Given the description of an element on the screen output the (x, y) to click on. 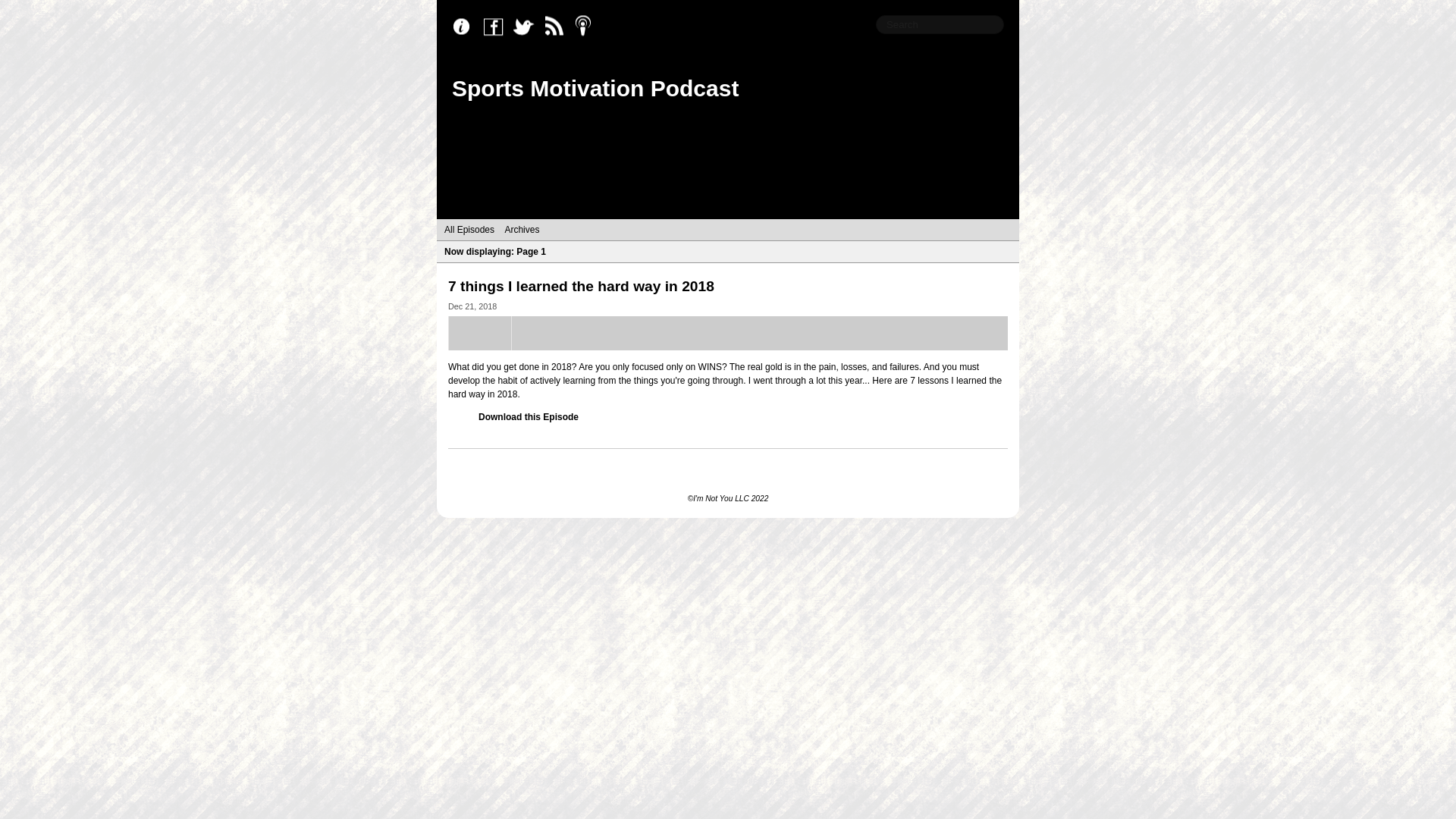
Facebook (496, 26)
RSS Feed (558, 26)
Libsyn Player (727, 333)
Sports Motivation Podcast (594, 88)
Twitter (527, 26)
Subscribe in Apple Podcasts (588, 26)
